Given the description of an element on the screen output the (x, y) to click on. 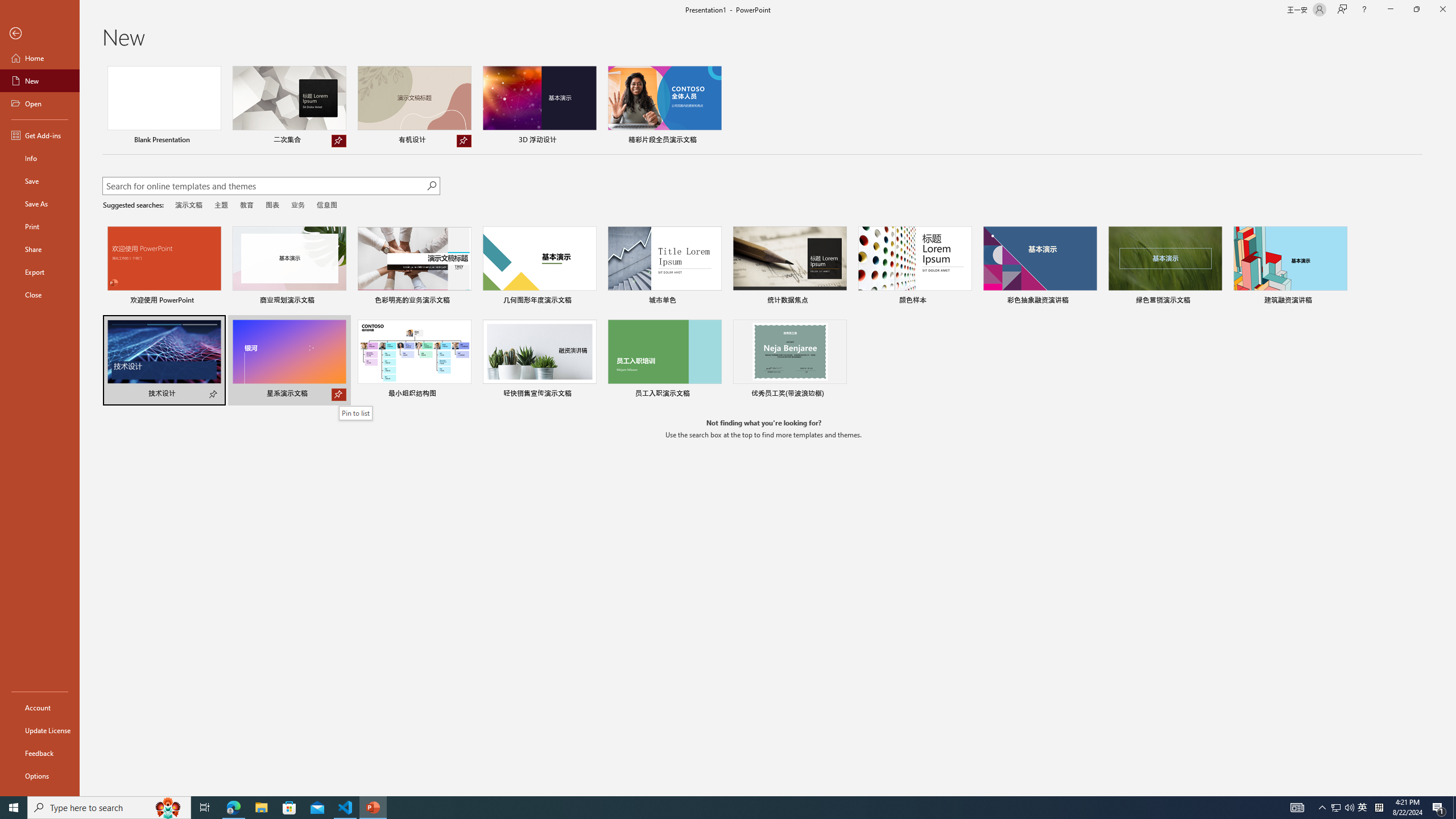
Account (40, 707)
Save As (40, 203)
Print (40, 225)
